Given the description of an element on the screen output the (x, y) to click on. 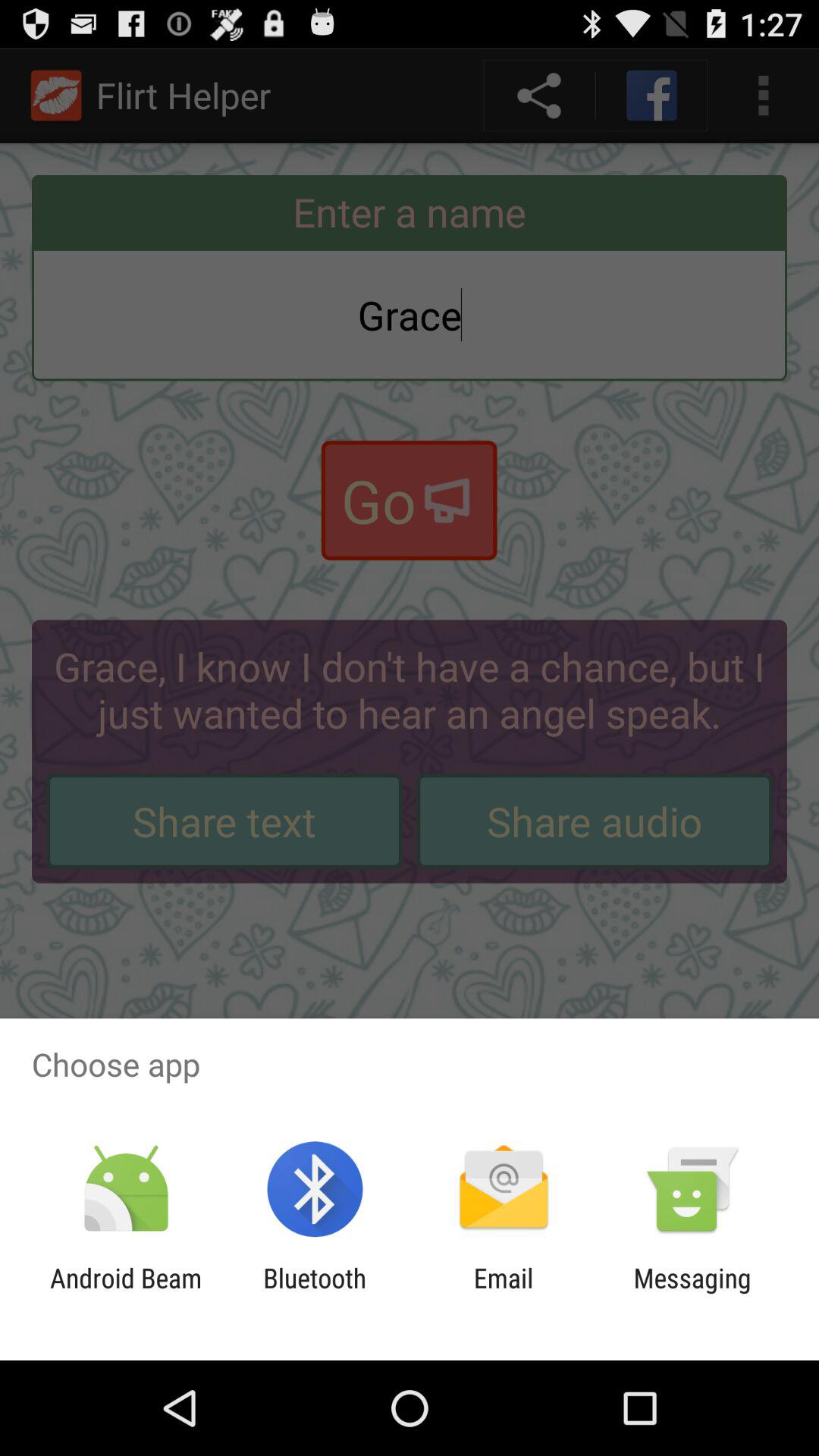
click email icon (503, 1293)
